Given the description of an element on the screen output the (x, y) to click on. 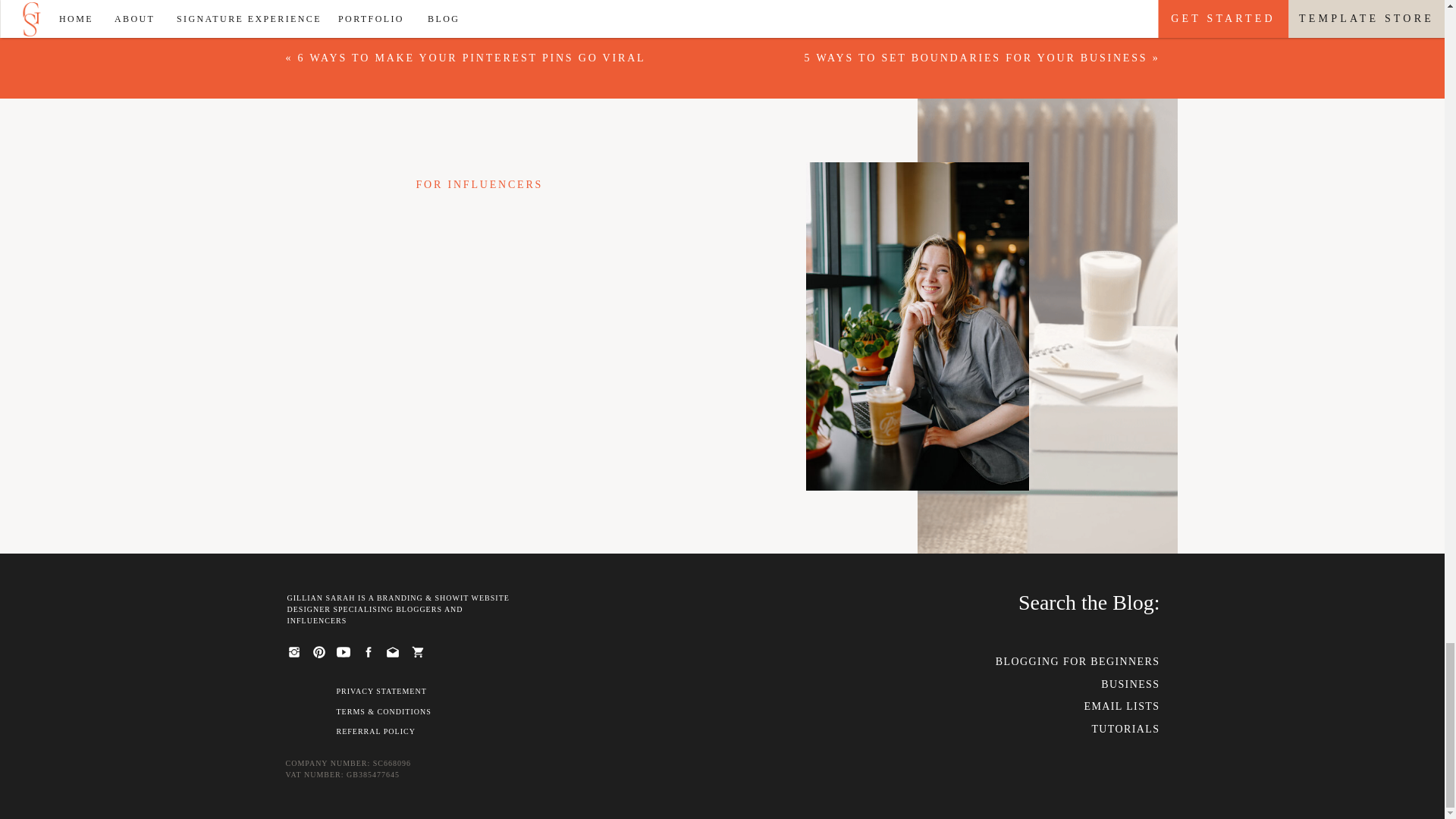
6 WAYS TO MAKE YOUR PINTEREST PINS GO VIRAL (472, 57)
Post Comment (722, 4)
5 WAYS TO SET BOUNDARIES FOR YOUR BUSINESS (976, 57)
Post Comment (722, 4)
